Given the description of an element on the screen output the (x, y) to click on. 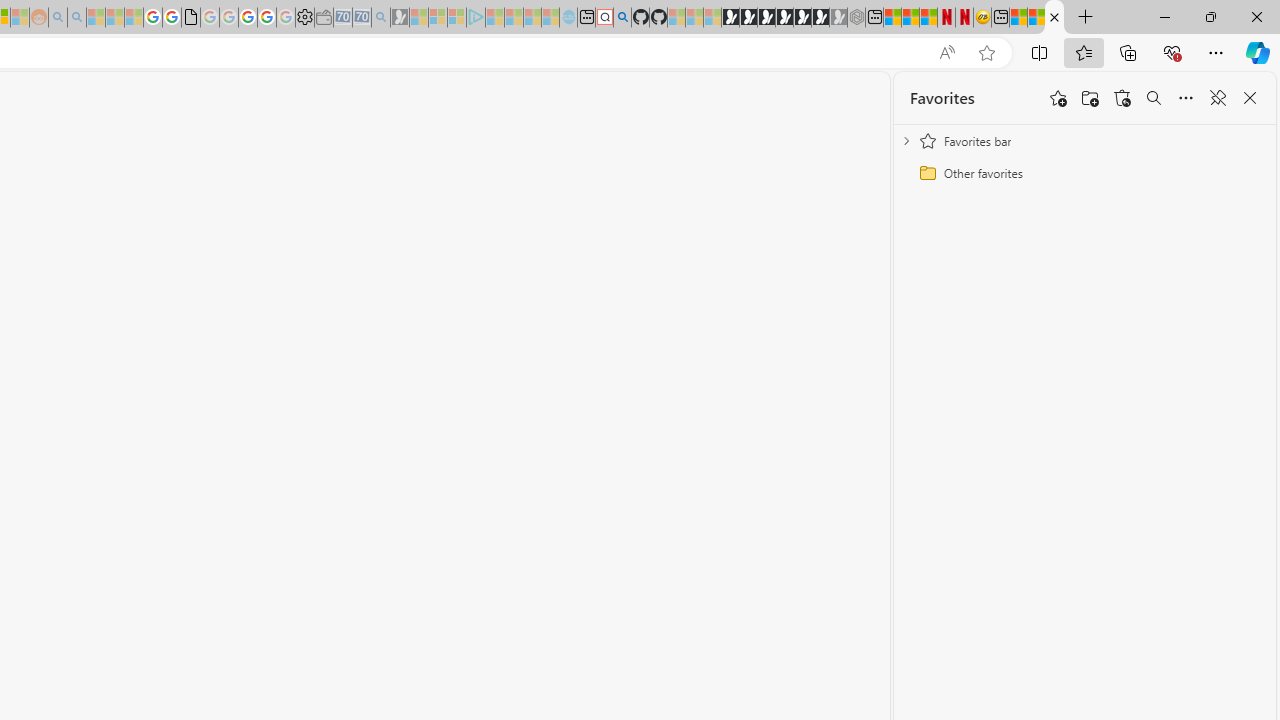
New tab (1000, 17)
Restore (1210, 16)
Cheap Car Rentals - Save70.com - Sleeping (362, 17)
Settings and more (Alt+F) (1215, 52)
Bing Real Estate - Home sales and rental listings - Sleeping (381, 17)
More options (1186, 98)
Utah sues federal government - Search - Sleeping (76, 17)
Play Free Online Games | Games from Microsoft Start (729, 17)
